Given the description of an element on the screen output the (x, y) to click on. 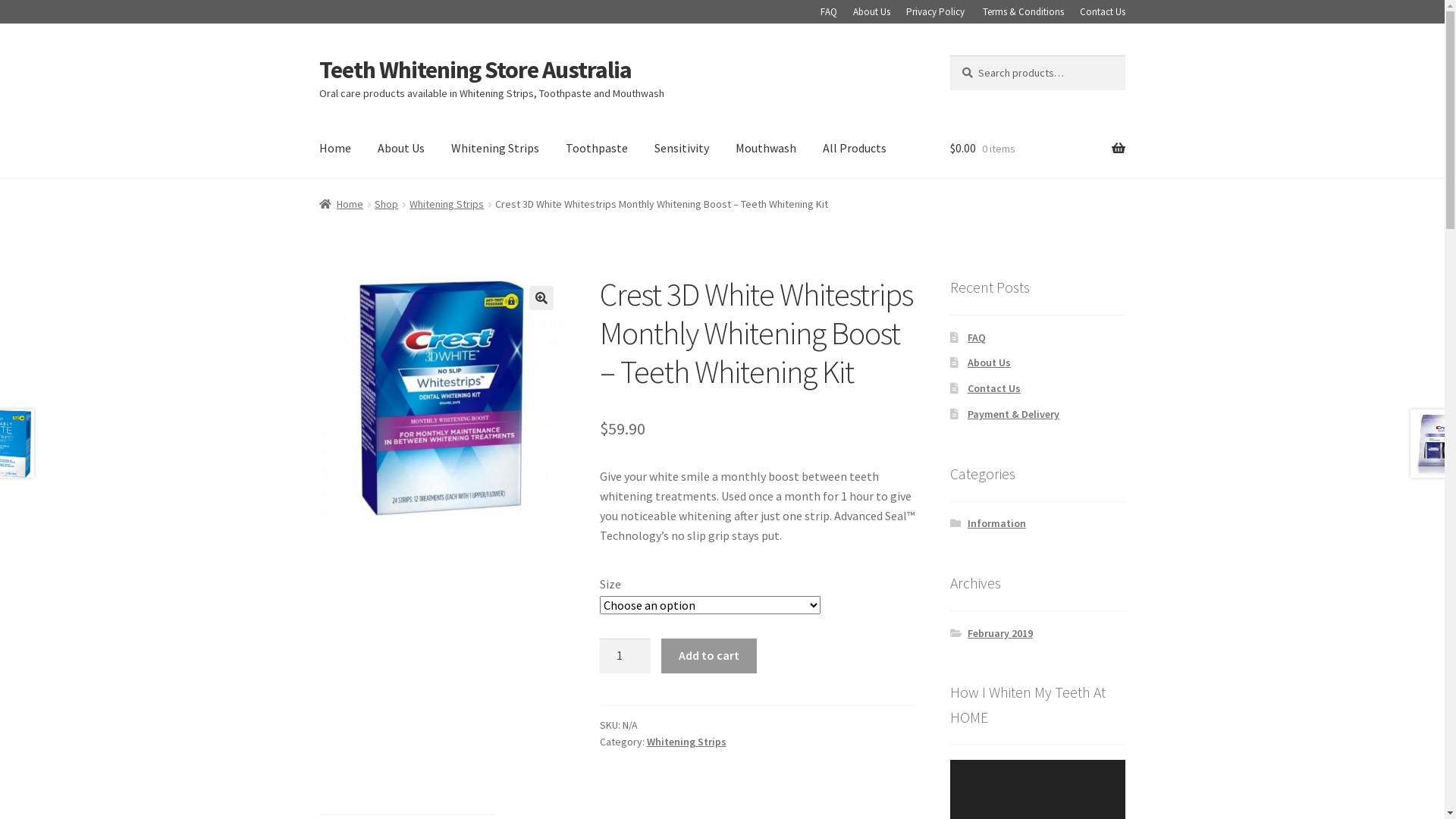
Whitening Strips Element type: text (446, 203)
Teeth Whitening Store Australia Element type: text (475, 69)
Home Element type: text (335, 148)
February 2019 Element type: text (999, 633)
Contact Us Element type: text (993, 388)
Qty Element type: hover (625, 655)
Contact Us Element type: text (1102, 11)
Skip to navigation Element type: text (318, 54)
Crest 3D White Whitestrips No Slip Monthly Whitening Boost Element type: hover (441, 397)
FAQ Element type: text (976, 337)
Terms & Conditions Element type: text (1022, 11)
Information Element type: text (996, 523)
Search Element type: text (949, 54)
All Products Element type: text (854, 148)
About Us Element type: text (871, 11)
Whitening Strips Element type: text (686, 741)
About Us Element type: text (988, 362)
$0.00 0 items Element type: text (1037, 148)
Mouthwash Element type: text (765, 148)
Privacy Policy Element type: text (935, 11)
Whitening Strips Element type: text (495, 148)
Shop Element type: text (386, 203)
Add to cart Element type: text (708, 655)
Payment & Delivery Element type: text (1013, 413)
Sensitivity Element type: text (681, 148)
FAQ Element type: text (828, 11)
About Us Element type: text (400, 148)
Home Element type: text (341, 203)
Toothpaste Element type: text (596, 148)
